Given the description of an element on the screen output the (x, y) to click on. 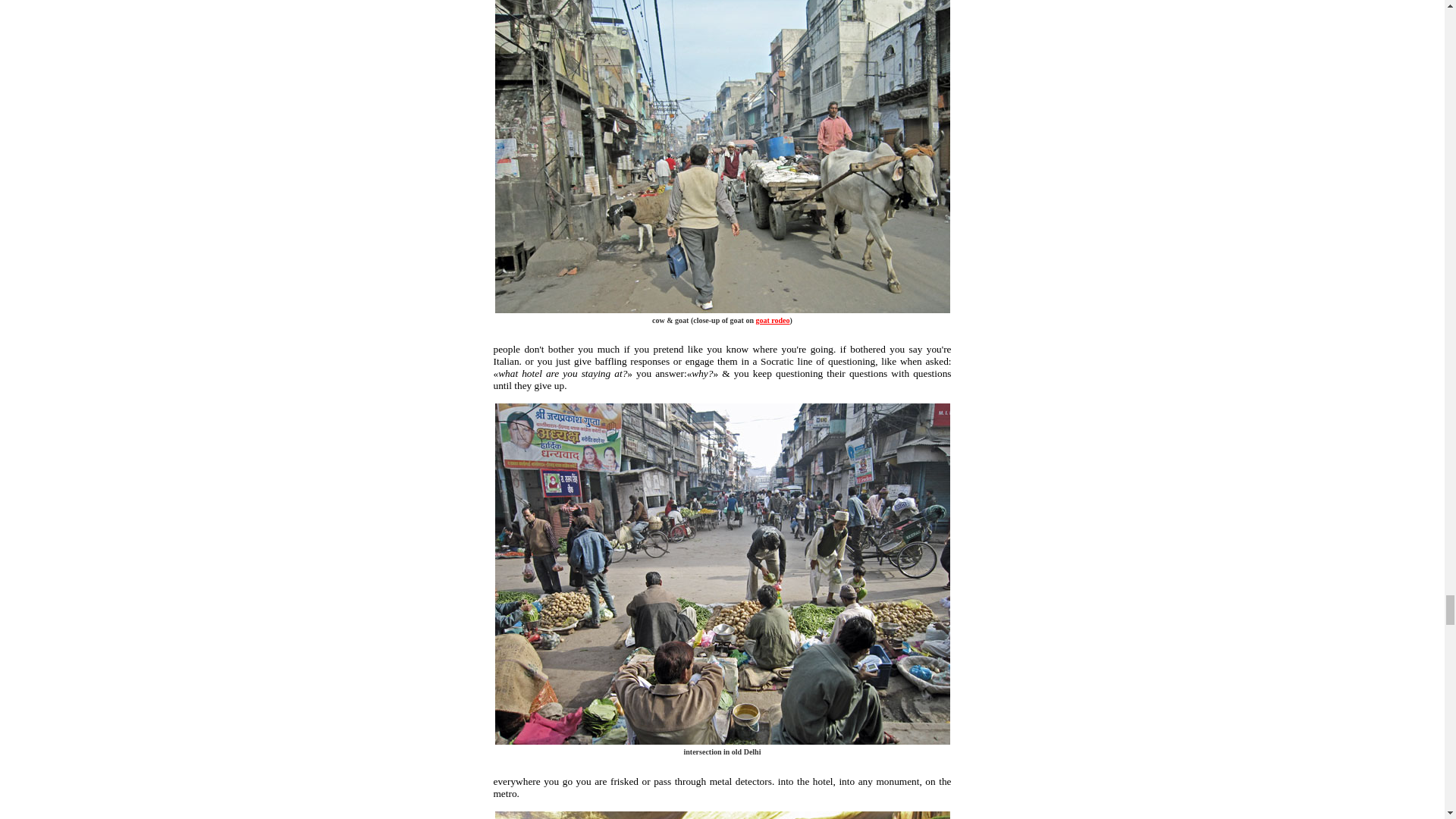
goat rodeo (772, 320)
